Given the description of an element on the screen output the (x, y) to click on. 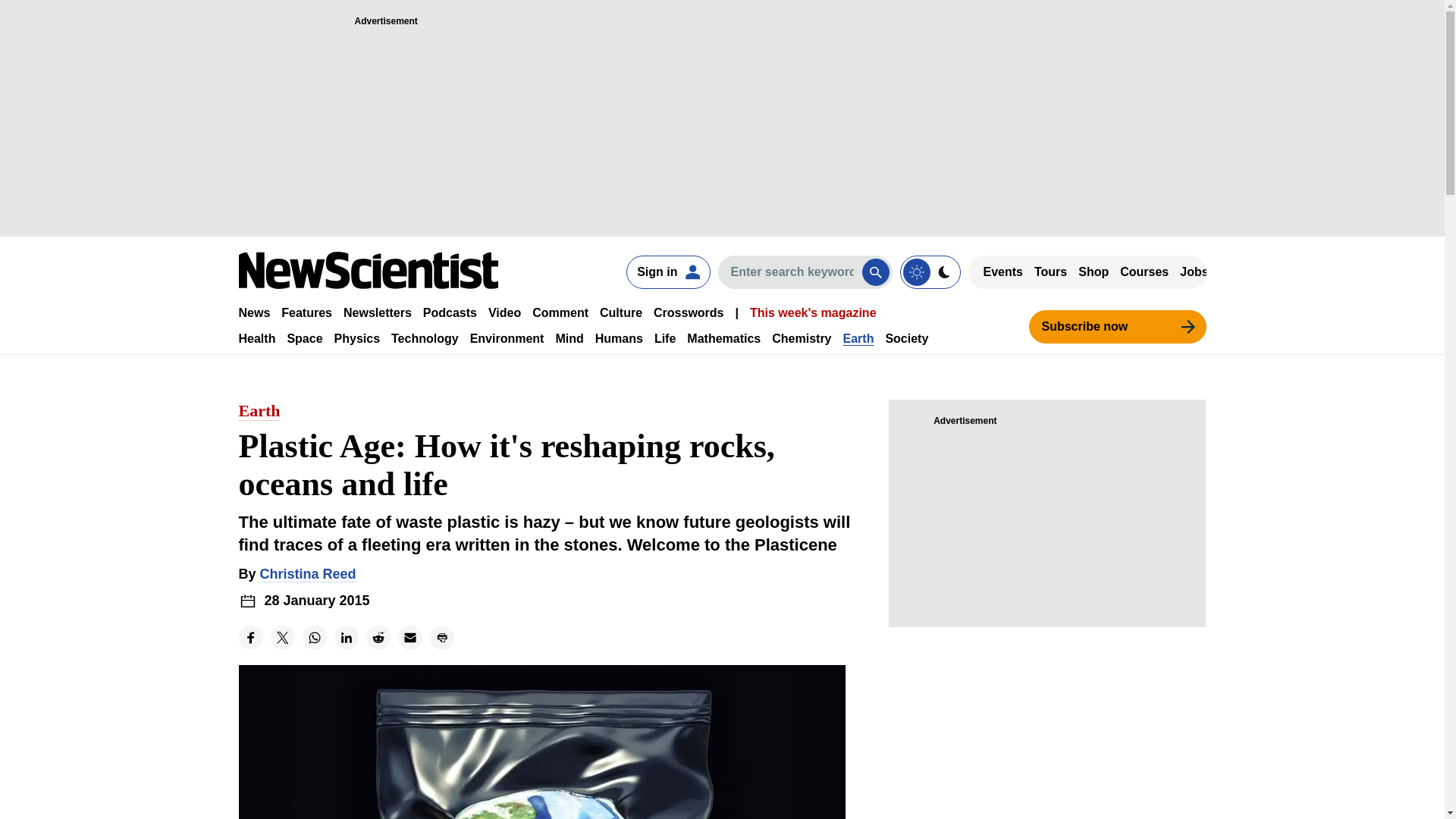
Space (303, 338)
Health (256, 338)
Newsletters (377, 313)
Comment (560, 313)
Subscribe now (1116, 326)
Mind (568, 338)
Podcasts (450, 313)
Humans (619, 338)
on (929, 272)
Technology (424, 338)
